Given the description of an element on the screen output the (x, y) to click on. 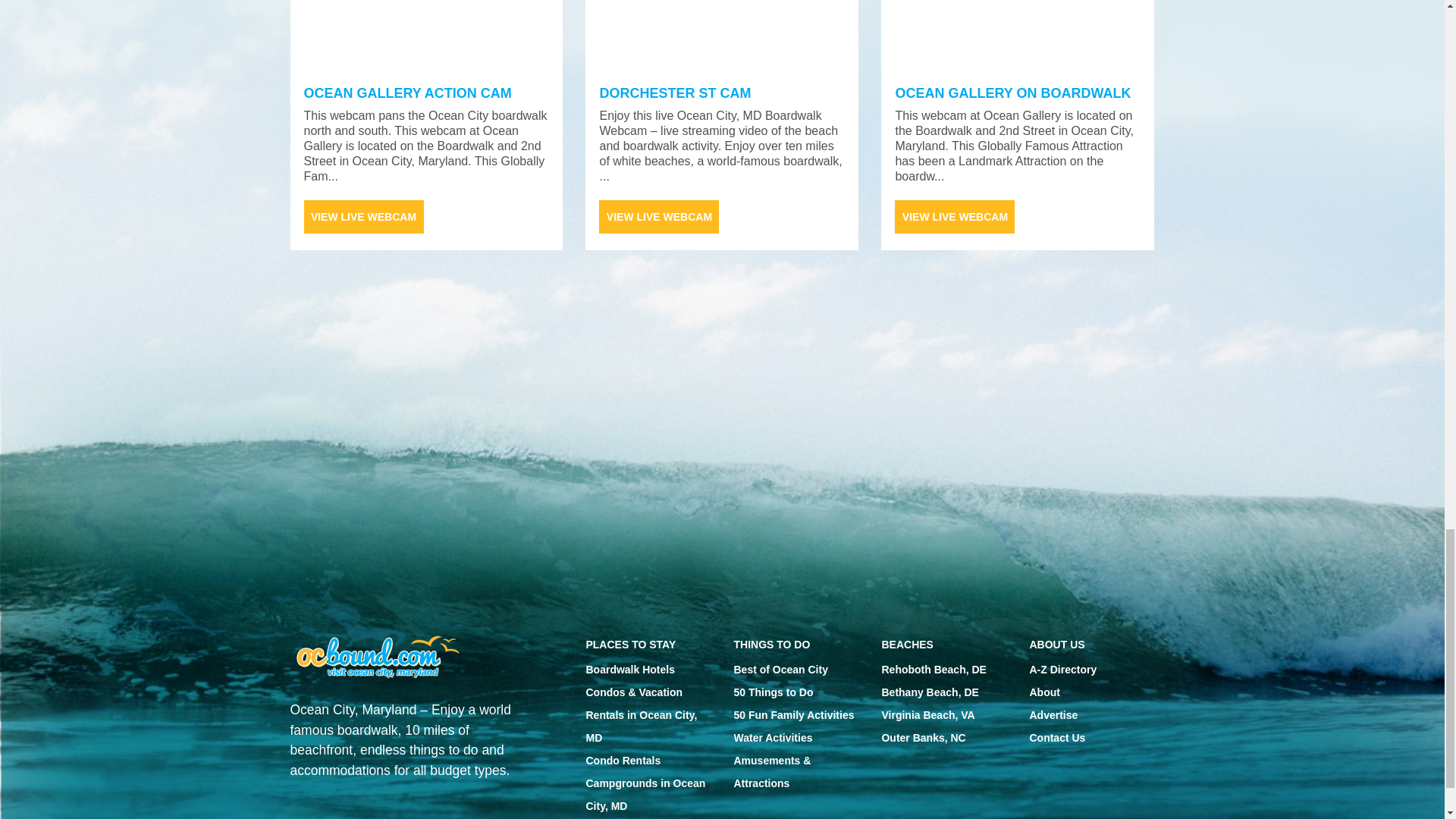
VIEW LIVE WEBCAM (1017, 35)
VIEW LIVE WEBCAM (362, 216)
OCEAN GALLERY ACTION CAM (658, 216)
OCEAN GALLERY ON BOARDWALK (406, 92)
VIEW LIVE WEBCAM (1013, 92)
DORCHESTER ST CAM (721, 35)
